Given the description of an element on the screen output the (x, y) to click on. 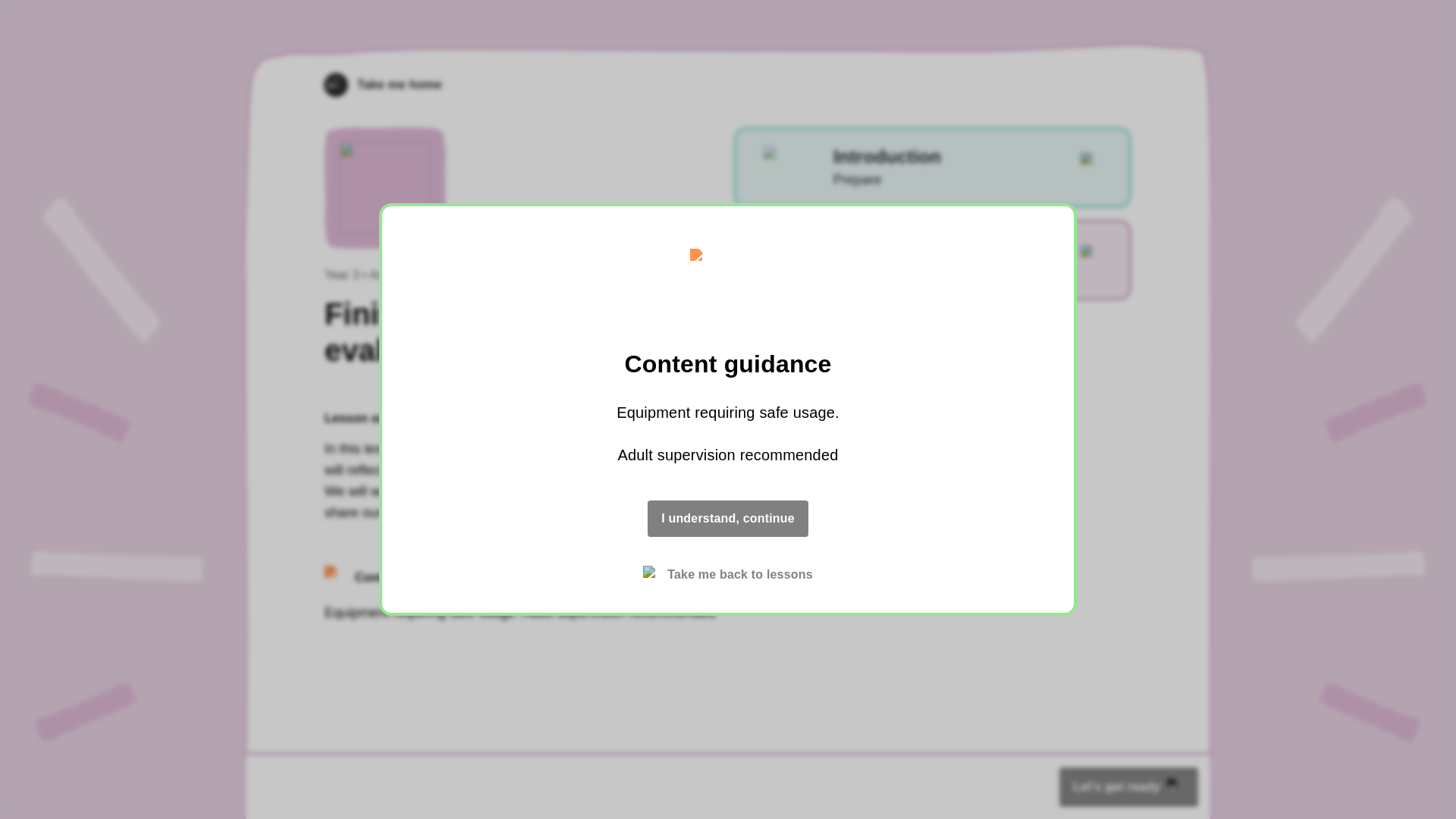
Take me back to lessons (727, 574)
Take me home (382, 84)
Let's get ready (1128, 786)
I understand, continue (932, 167)
